Given the description of an element on the screen output the (x, y) to click on. 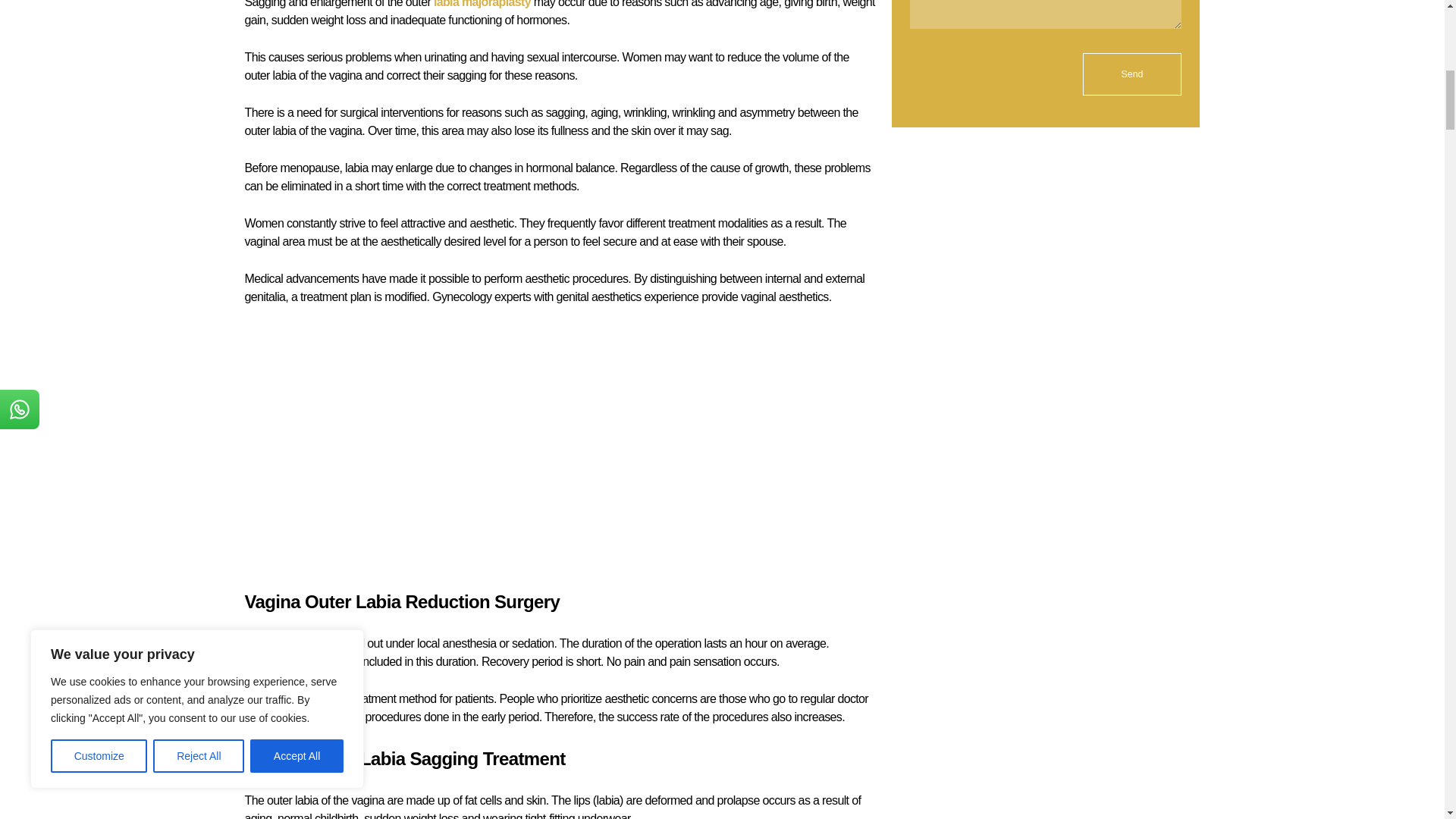
Send (1132, 74)
